Given the description of an element on the screen output the (x, y) to click on. 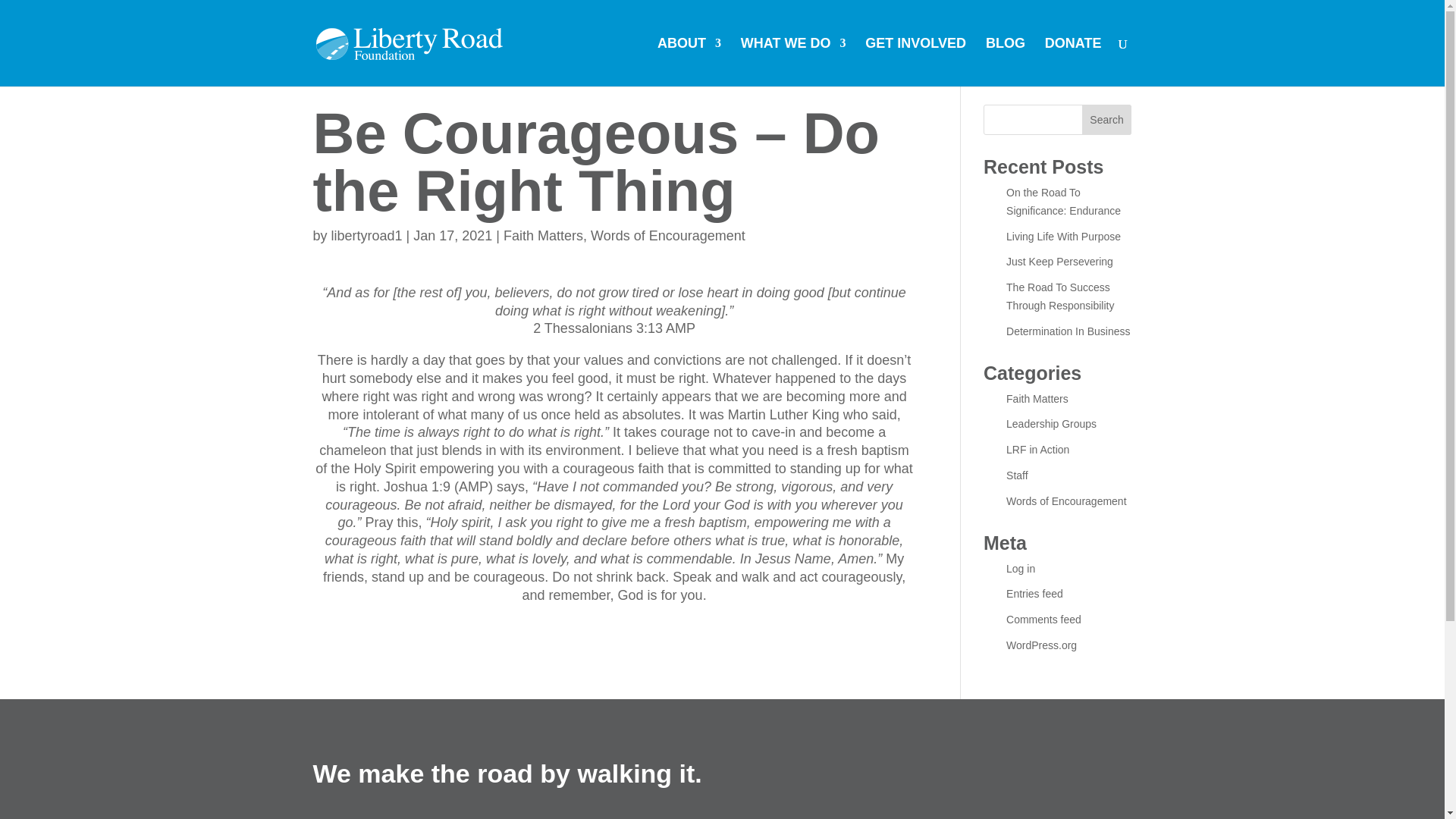
DONATE (1073, 61)
Just Keep Persevering (1059, 261)
libertyroad1 (367, 235)
On the Road To Significance: Endurance (1063, 201)
WHAT WE DO (793, 61)
Determination In Business (1067, 331)
Words of Encouragement (668, 235)
The Road To Success Through Responsibility (1059, 296)
Posts by libertyroad1 (367, 235)
Search (1106, 119)
